Given the description of an element on the screen output the (x, y) to click on. 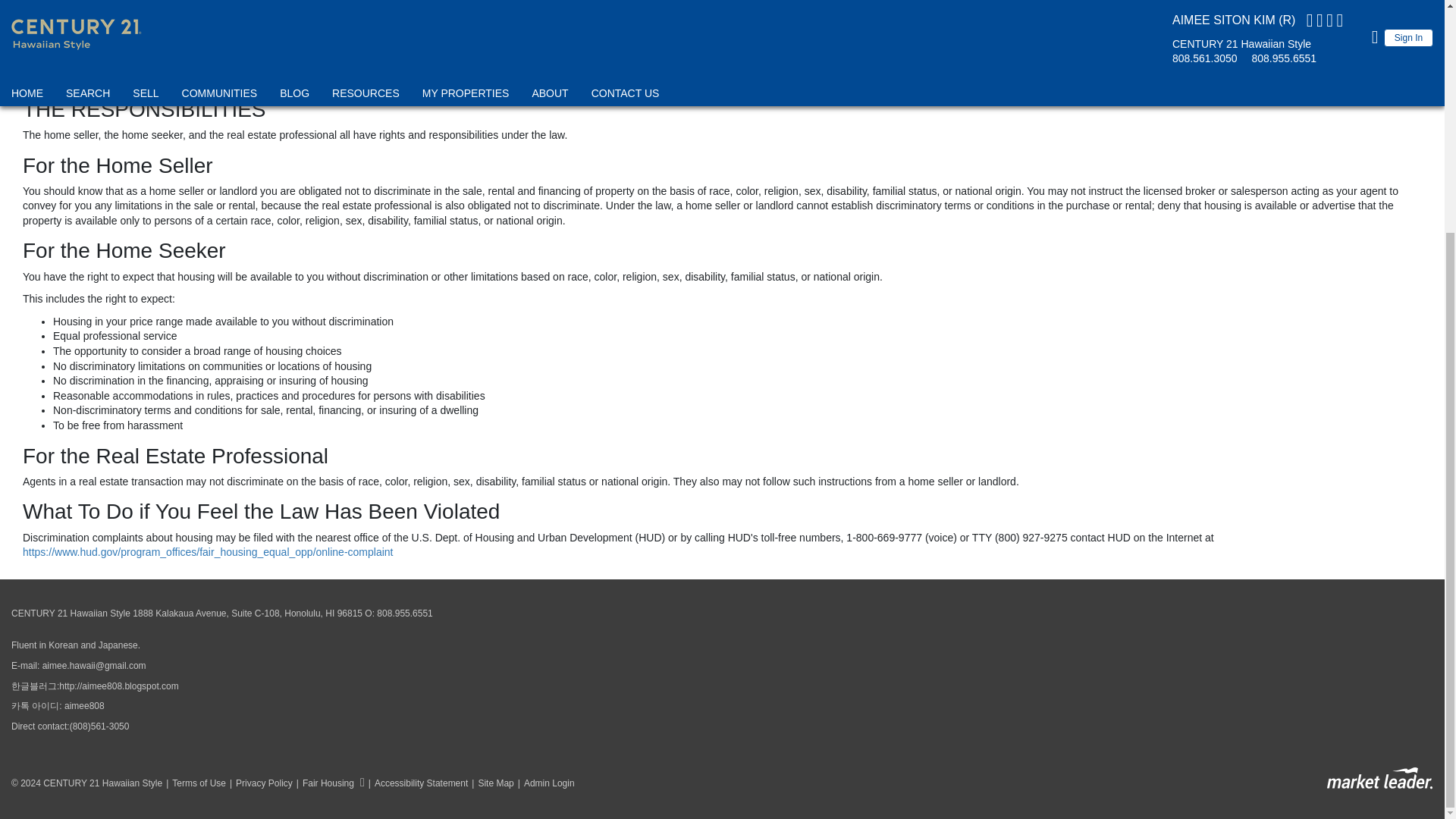
Terms of Use (193, 783)
Accessibility Statement (416, 783)
Fair Housing (328, 783)
Admin Login (544, 783)
Privacy Policy (258, 783)
808.955.6551 (404, 613)
Site Map (490, 783)
Powered By Market Leader (1379, 778)
